Given the description of an element on the screen output the (x, y) to click on. 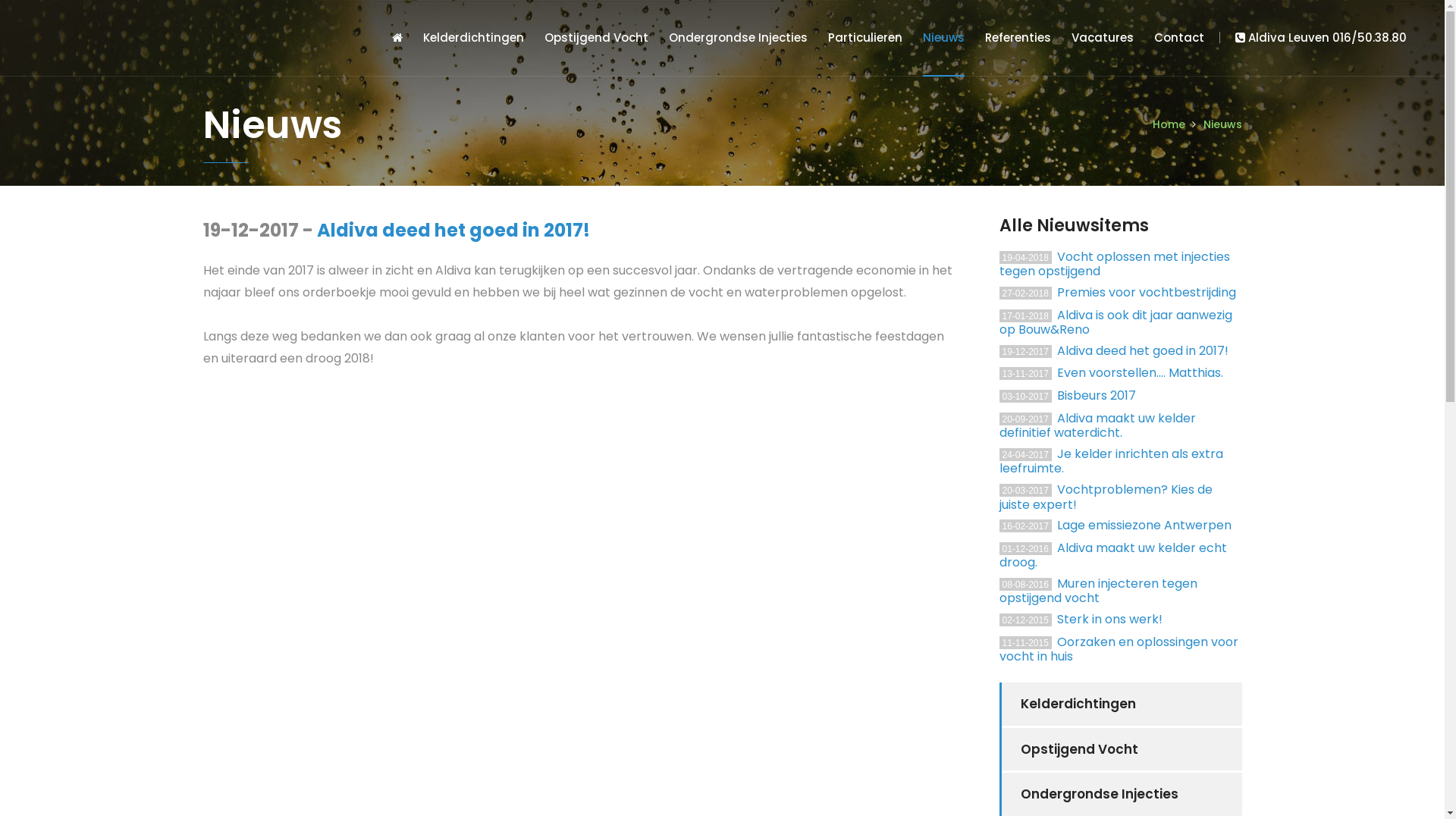
Ondergrondse Injecties Element type: text (1121, 793)
Aldiva deed het goed in 2017! Element type: text (1142, 350)
Nieuws Element type: text (943, 37)
Vochtproblemen? Kies de juiste expert! Element type: text (1105, 496)
Oorzaken en oplossingen voor vocht in huis Element type: text (1118, 649)
Bisbeurs 2017 Element type: text (1096, 395)
Kelderdichtingen Element type: text (473, 37)
Je kelder inrichten als extra leefruimte. Element type: text (1111, 461)
Sterk in ons werk! Element type: text (1109, 618)
Premies voor vochtbestrijding Element type: text (1146, 292)
Particulieren Element type: text (865, 37)
Aldiva maakt uw kelder definitief waterdicht. Element type: text (1097, 425)
Aldiva maakt uw kelder echt droog. Element type: text (1112, 555)
Referenties Element type: text (1018, 37)
Ondergrondse Injecties Element type: text (737, 37)
Kelderdichtingen Element type: text (1121, 703)
Aldiva Leuven 016/50.38.80 Element type: text (1320, 37)
Nieuws Element type: text (1221, 123)
Vacatures Element type: text (1102, 37)
Opstijgend Vocht Element type: text (1121, 749)
Contact Element type: text (1179, 37)
Lage emissiezone Antwerpen Element type: text (1144, 524)
Even voorstellen.... Matthias. Element type: text (1140, 372)
Aldiva deed het goed in 2017! Element type: text (452, 229)
Opstijgend Vocht Element type: text (596, 37)
Home Element type: text (1168, 123)
Vocht oplossen met injecties tegen opstijgend Element type: text (1114, 263)
Aldiva is ook dit jaar aanwezig op Bouw&Reno Element type: text (1115, 322)
Muren injecteren tegen opstijgend vocht Element type: text (1098, 590)
